Given the description of an element on the screen output the (x, y) to click on. 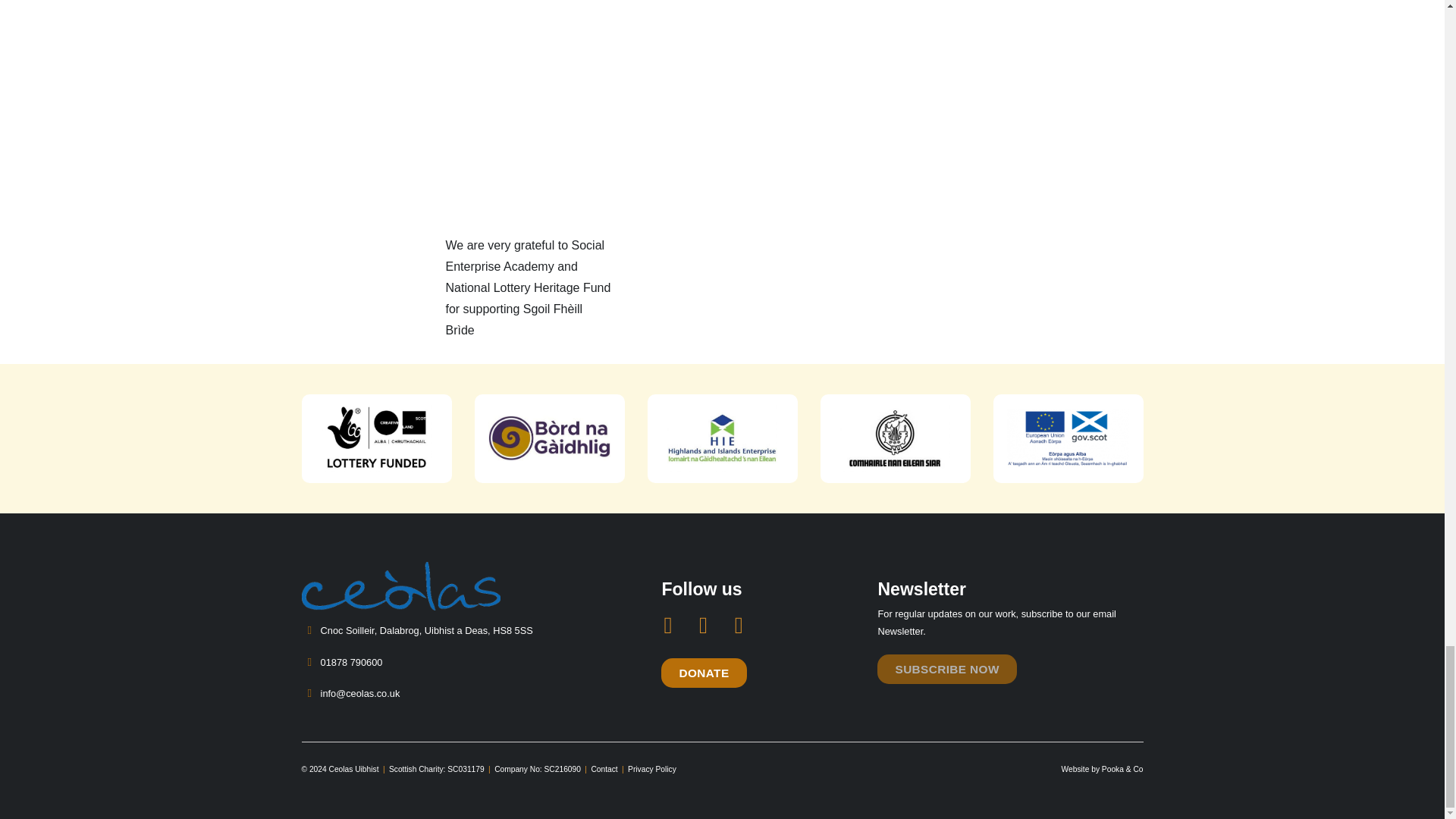
Comhairle nan Eilean Siar (896, 438)
Donate (703, 672)
HIE (722, 438)
Creative Scotland Lottery Funded (376, 438)
